Given the description of an element on the screen output the (x, y) to click on. 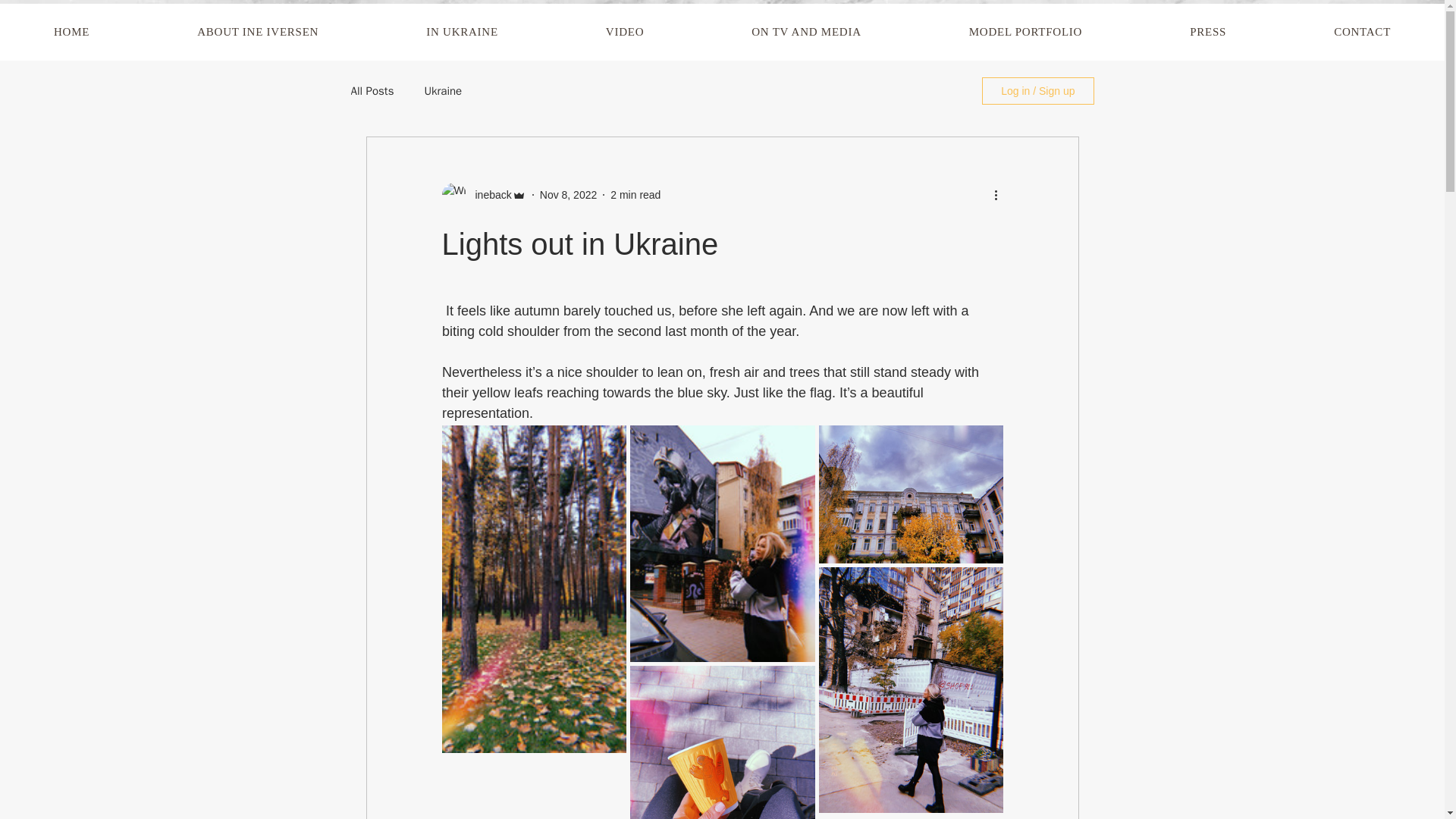
Ukraine (442, 90)
IN UKRAINE (461, 32)
ABOUT INE IVERSEN (257, 32)
VIDEO (624, 32)
HOME (71, 32)
MODEL PORTFOLIO (1025, 32)
PRESS (1207, 32)
All Posts (371, 90)
Nov 8, 2022 (568, 193)
ineback (488, 194)
2 min read (635, 193)
ON TV AND MEDIA (805, 32)
